Given the description of an element on the screen output the (x, y) to click on. 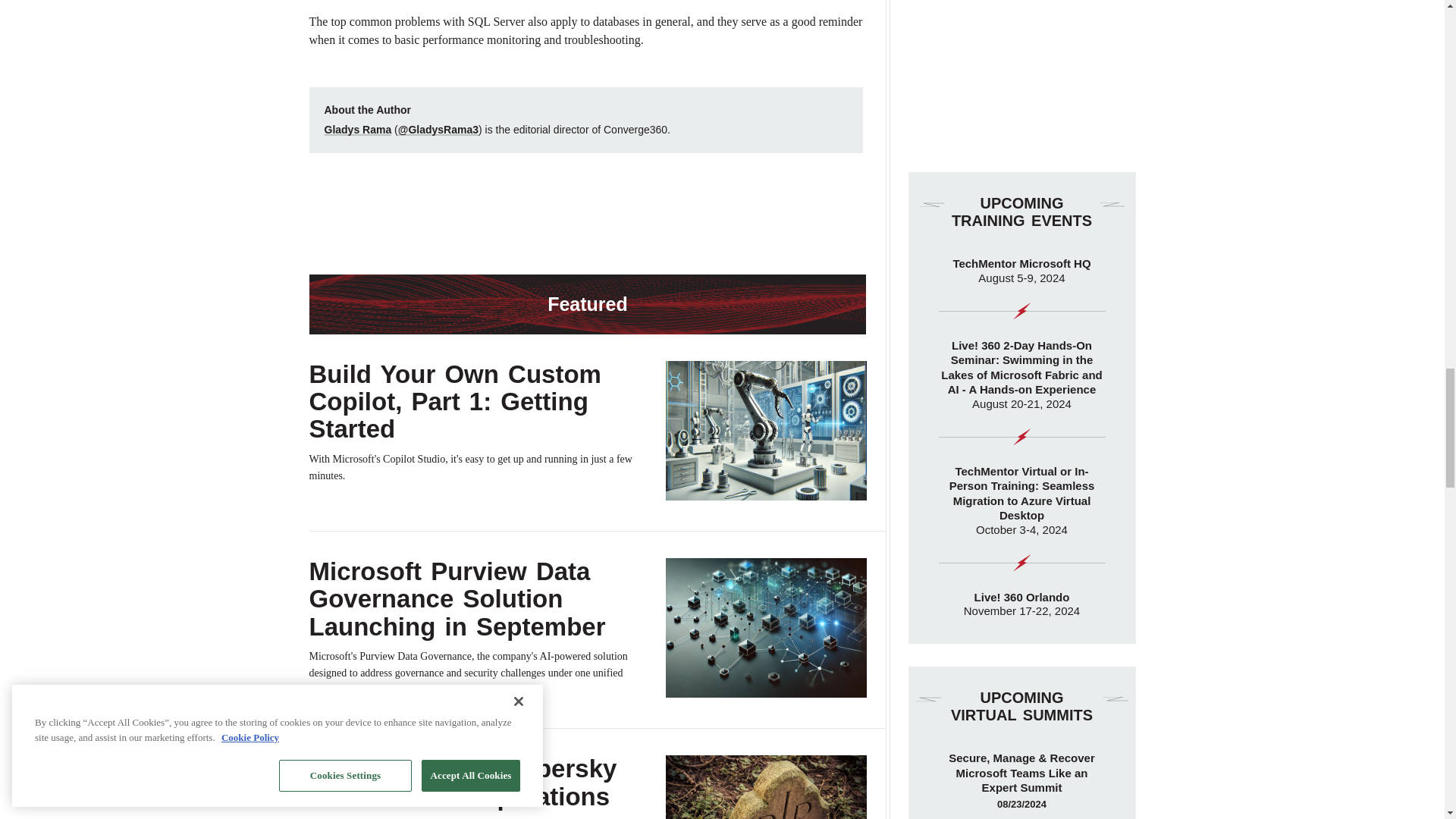
Gladys Rama (357, 129)
3rd party ad content (584, 213)
3rd party ad content (1021, 74)
